Given the description of an element on the screen output the (x, y) to click on. 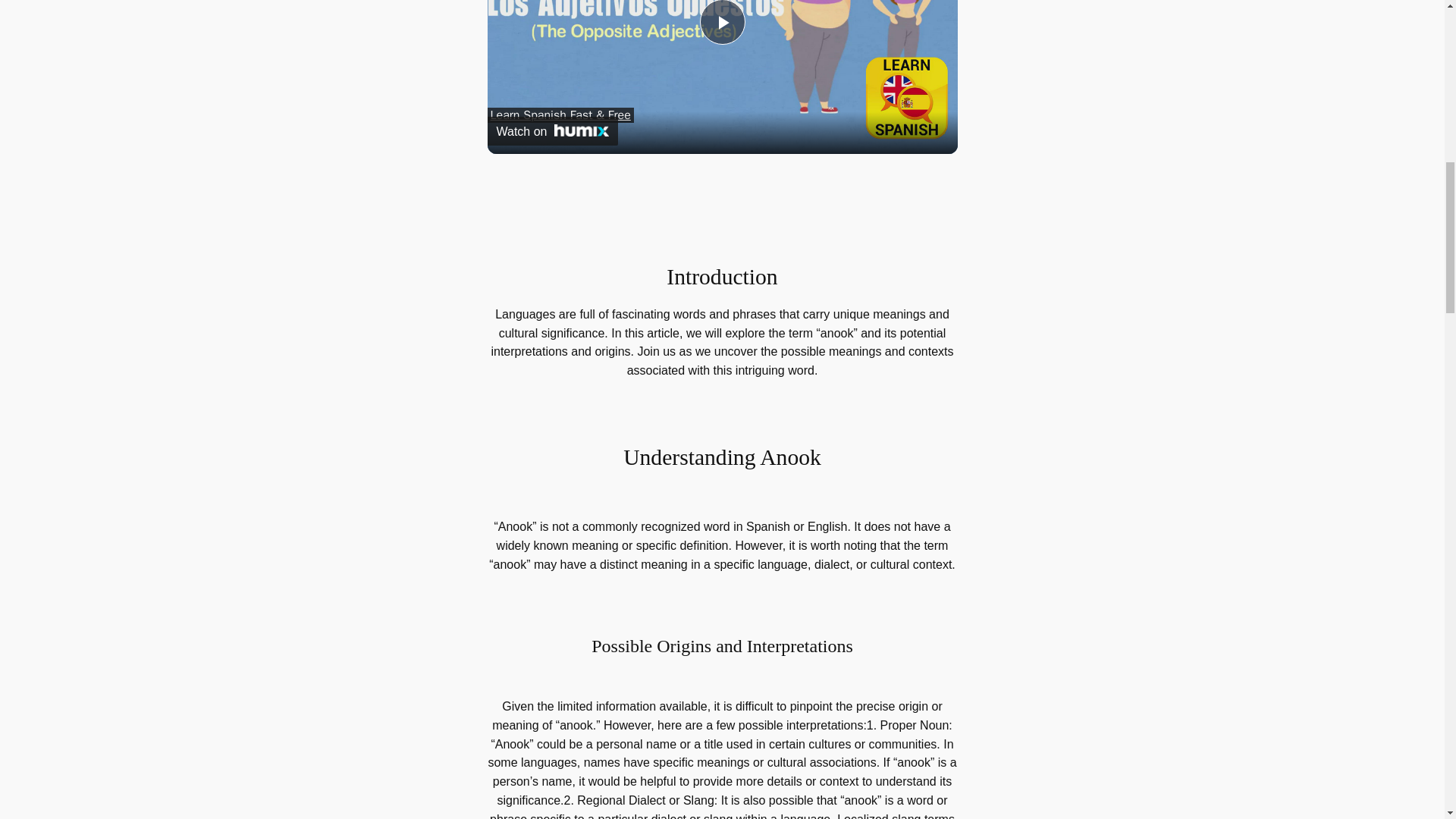
Play Video (721, 22)
Play Video (721, 22)
Watch on (551, 131)
